Given the description of an element on the screen output the (x, y) to click on. 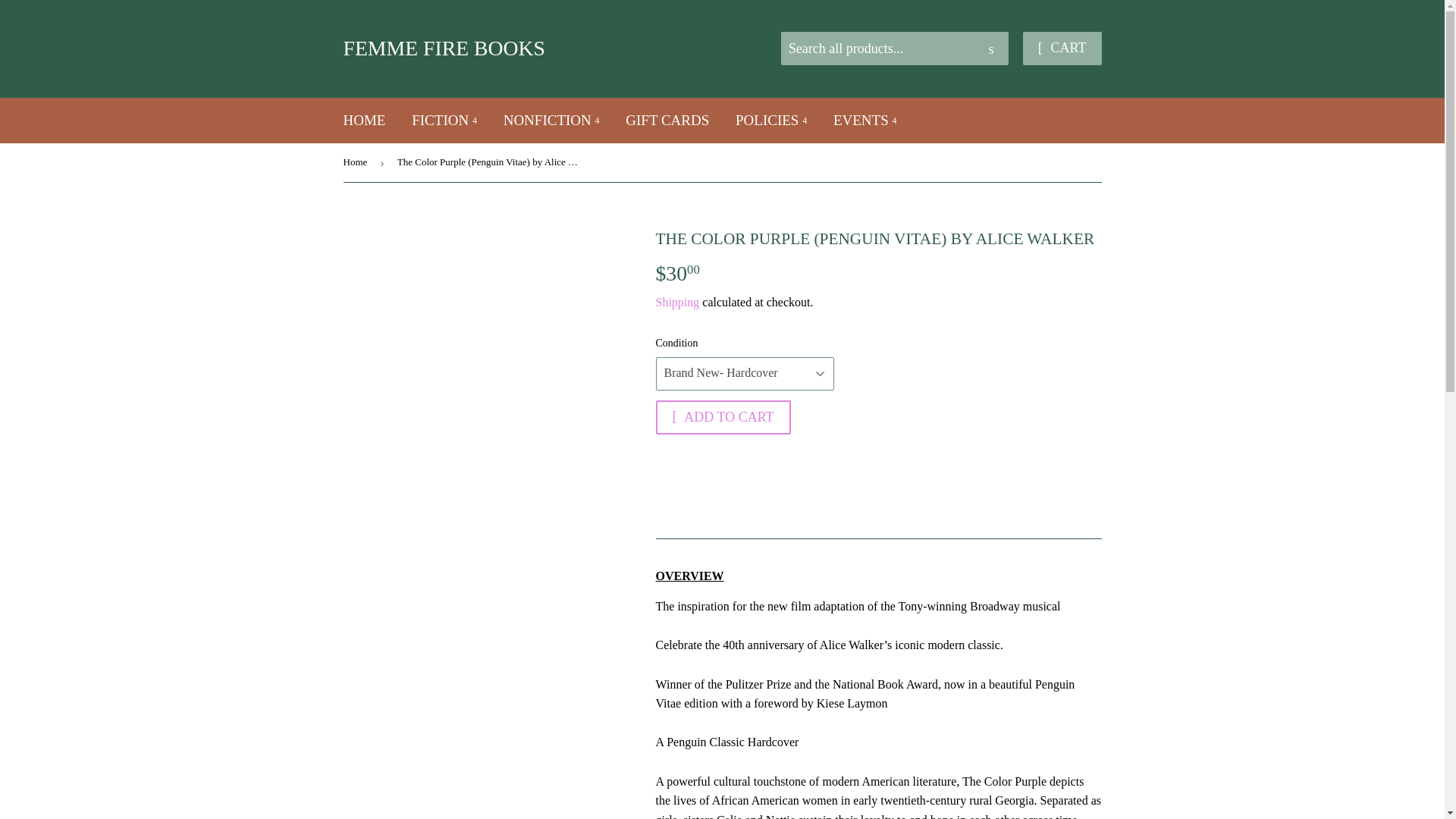
CART (1062, 48)
FEMME FIRE BOOKS (532, 48)
Search (991, 49)
